Given the description of an element on the screen output the (x, y) to click on. 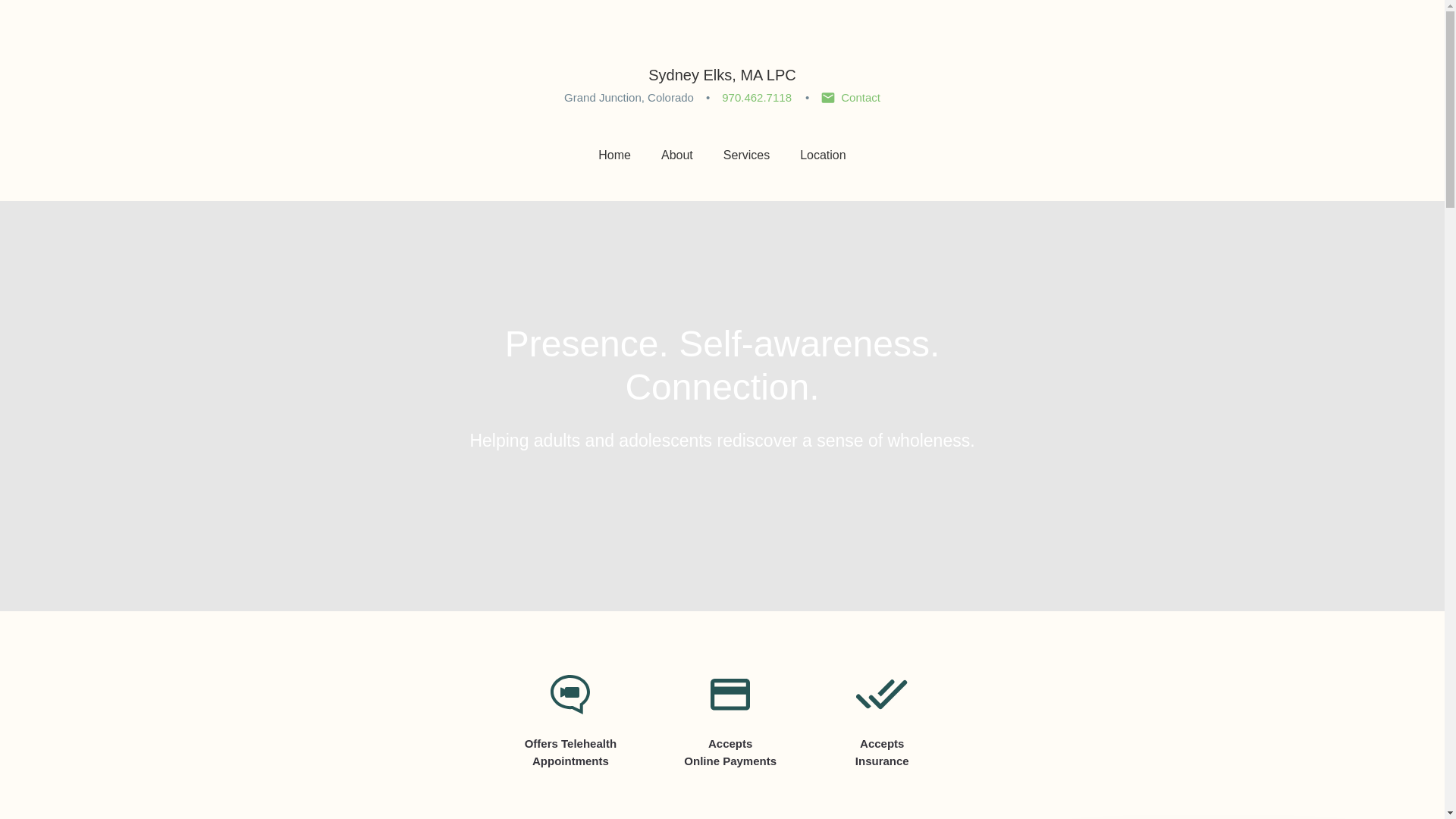
Home (614, 154)
Contact (850, 98)
Services (746, 154)
970.462.7118 (757, 98)
Location (822, 154)
About (676, 154)
